Given the description of an element on the screen output the (x, y) to click on. 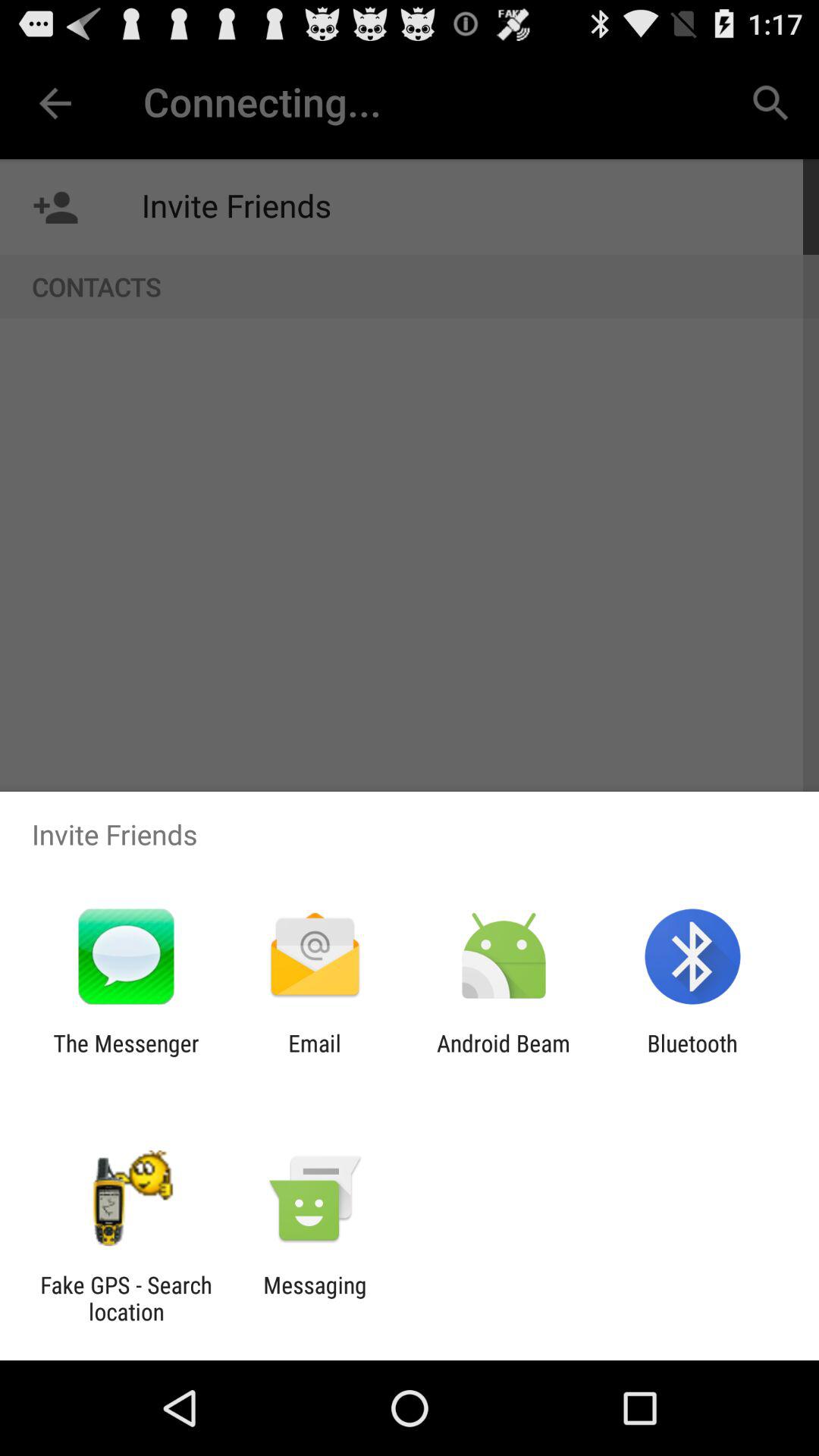
turn off icon to the right of the the messenger icon (314, 1056)
